Given the description of an element on the screen output the (x, y) to click on. 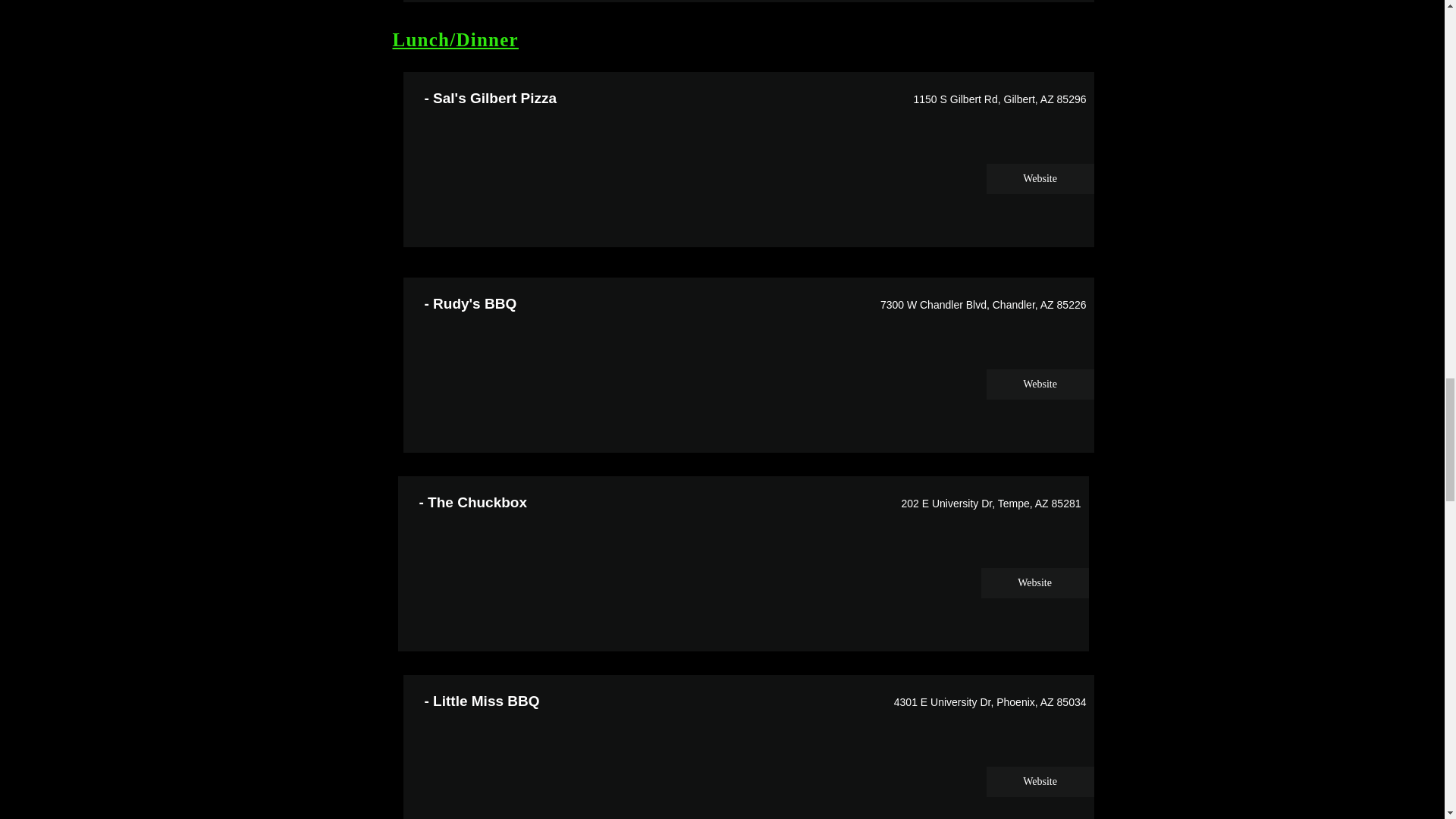
Website (1039, 178)
Website (1039, 384)
Website (1039, 781)
Website (1035, 583)
